Given the description of an element on the screen output the (x, y) to click on. 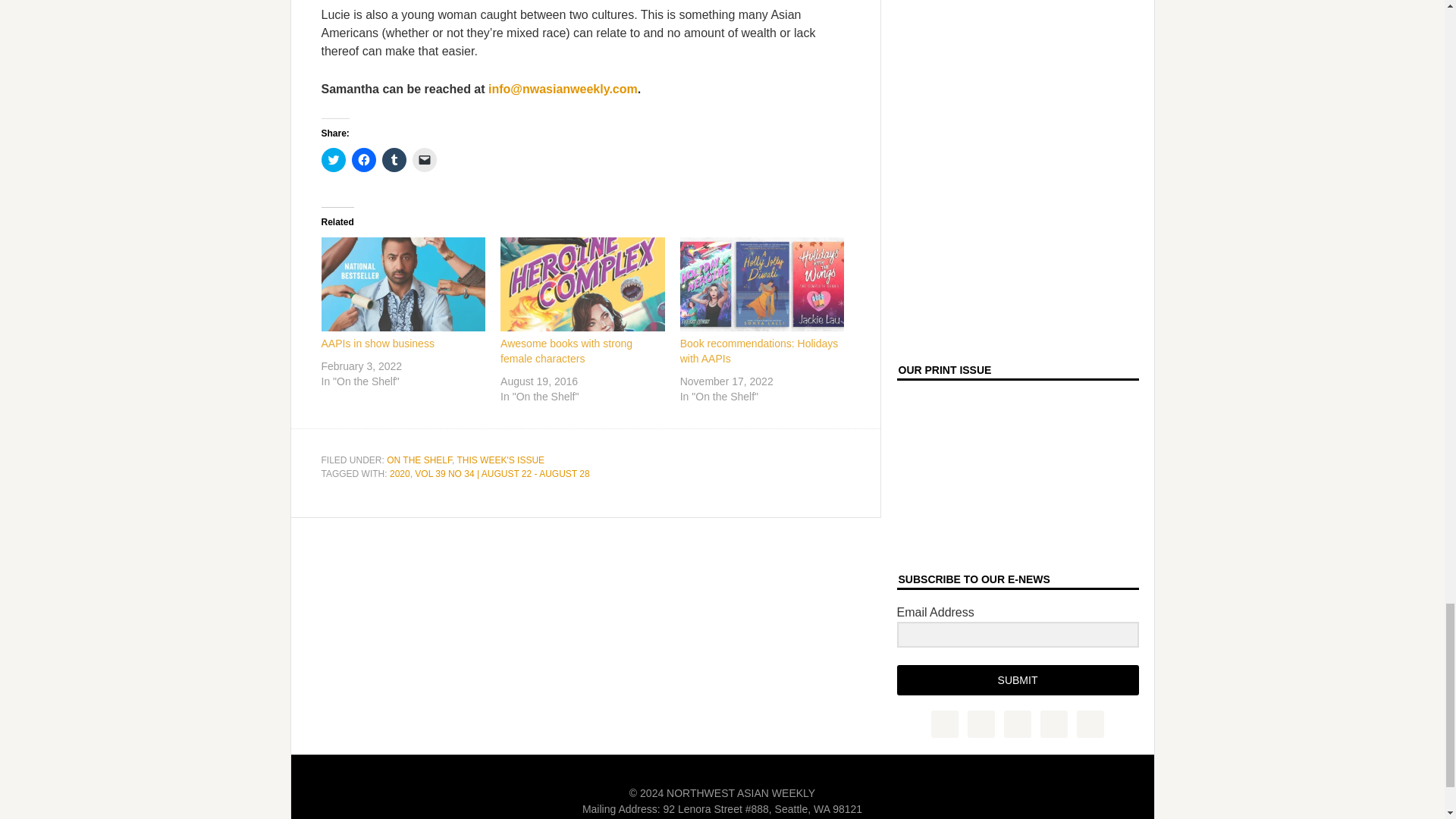
Click to share on Tumblr (393, 159)
Book recommendations: Holidays with AAPIs (761, 284)
AAPIs in show business (403, 284)
Click to email a link to a friend (424, 159)
Awesome books with strong female characters (582, 284)
Click to share on Twitter (333, 159)
Awesome books with strong female characters (565, 350)
AAPIs in show business (377, 343)
Book recommendations: Holidays with AAPIs (758, 350)
Click to share on Facebook (363, 159)
